Given the description of an element on the screen output the (x, y) to click on. 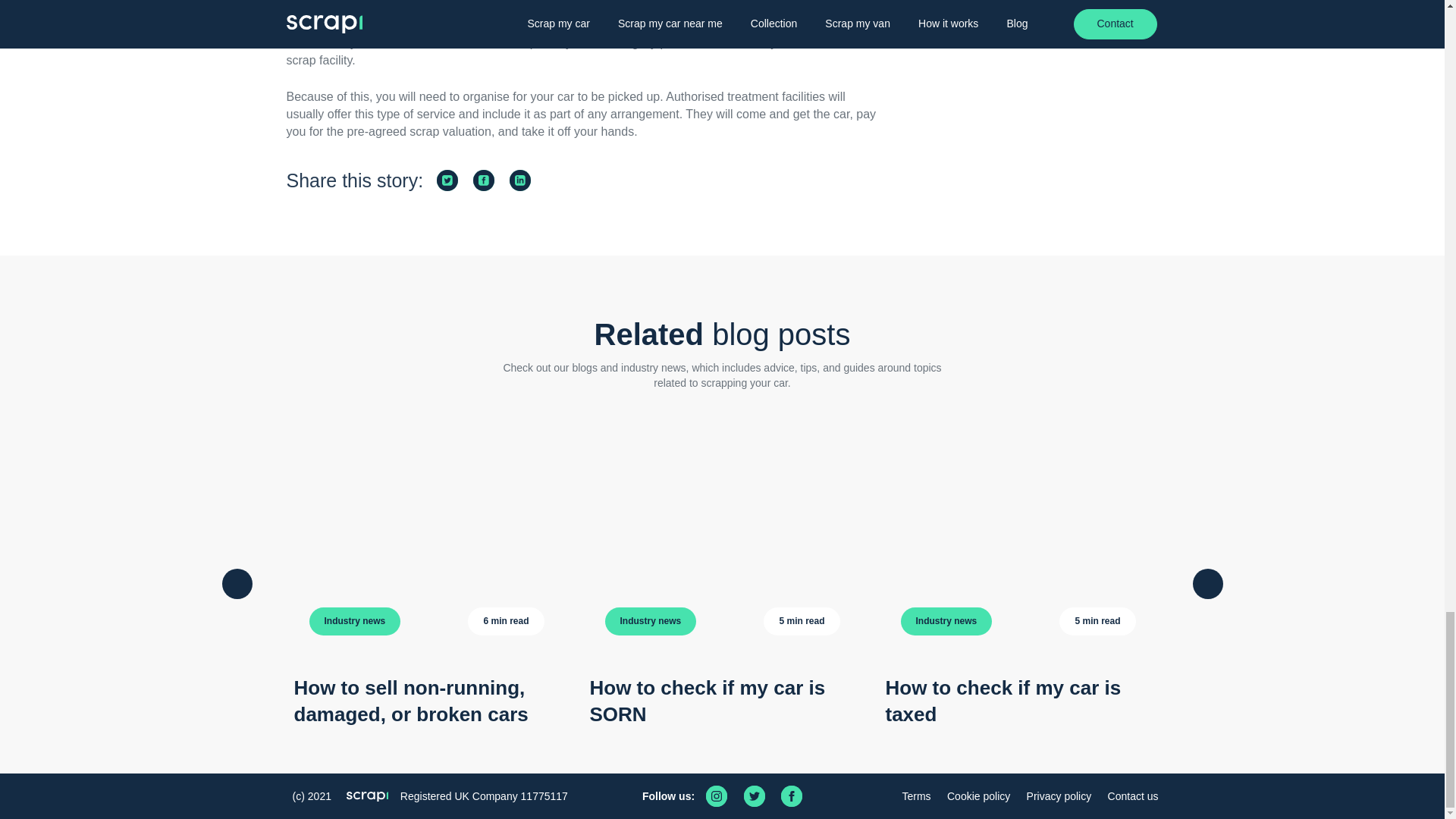
Twitter (754, 795)
Previous (236, 583)
Instagram (716, 795)
How to check if my car is SORN (707, 700)
How to check if my car is taxed (1003, 700)
Facebook (791, 795)
Industry news (946, 621)
Industry news (354, 621)
How to sell non-running, damaged, or broken cars (411, 700)
Industry news (651, 621)
